Given the description of an element on the screen output the (x, y) to click on. 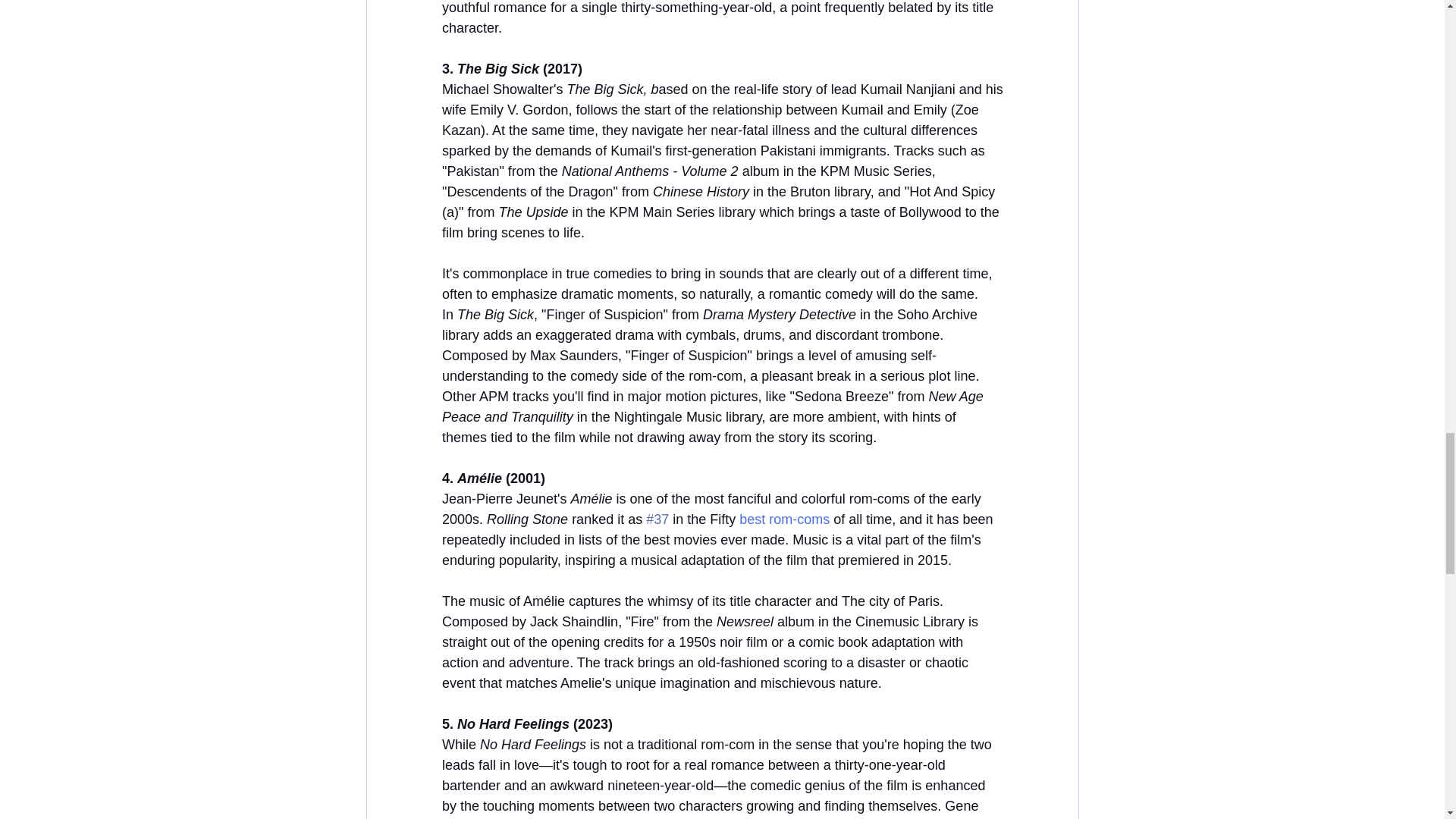
No (466, 724)
 best rom-coms (782, 519)
